Given the description of an element on the screen output the (x, y) to click on. 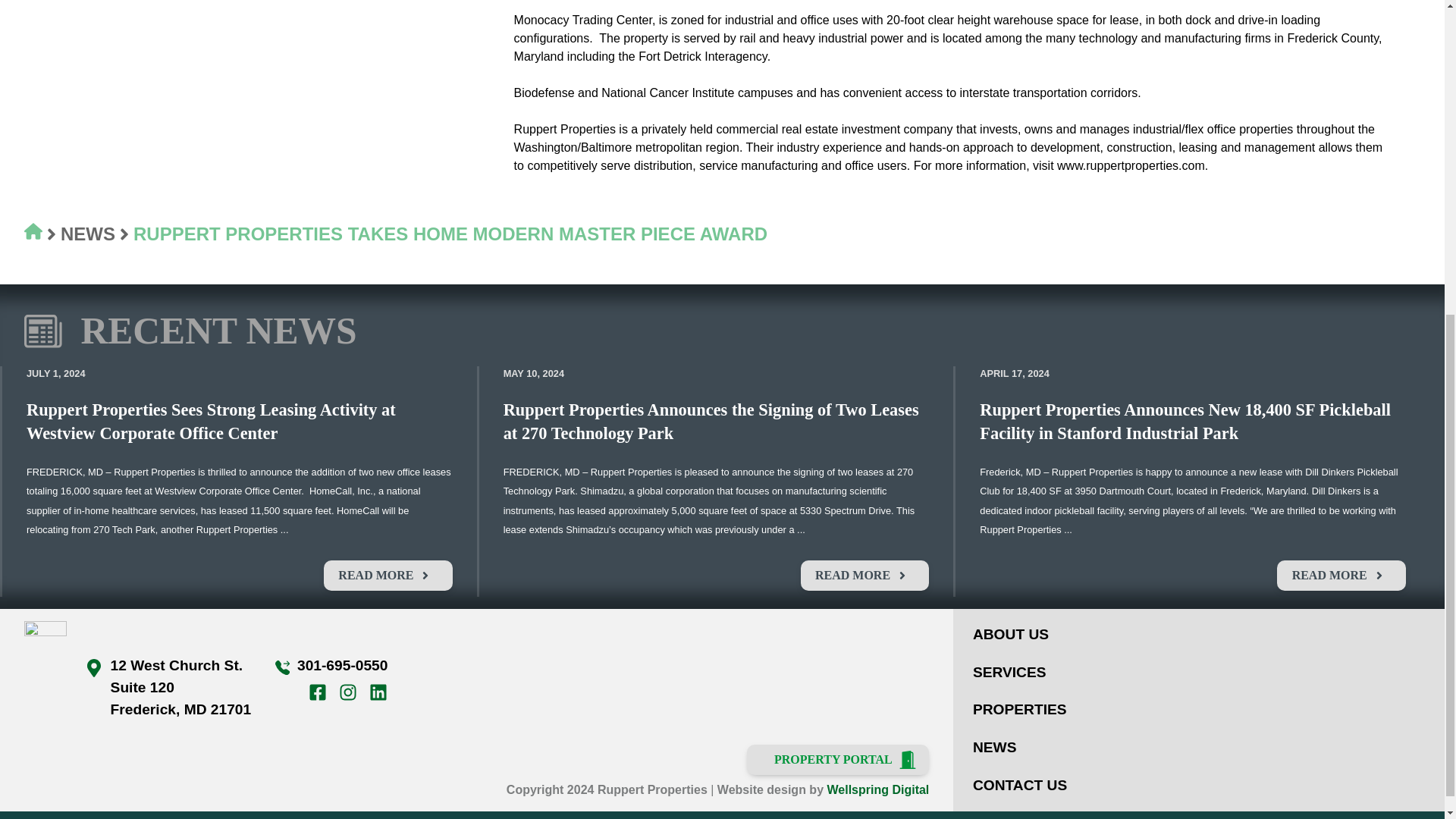
READ MORE (1340, 575)
RECENT NEWS (218, 331)
ABOUT US (1010, 634)
NEWS (88, 234)
PROPERTIES (1019, 709)
NEWS (994, 747)
PROPERTY PORTAL (837, 759)
READ MORE (387, 575)
READ MORE (864, 575)
Wellspring Digital (877, 789)
RUPPERT PROPERTIES TAKES HOME MODERN MASTER PIECE AWARD (450, 234)
SERVICES (1009, 672)
